Given the description of an element on the screen output the (x, y) to click on. 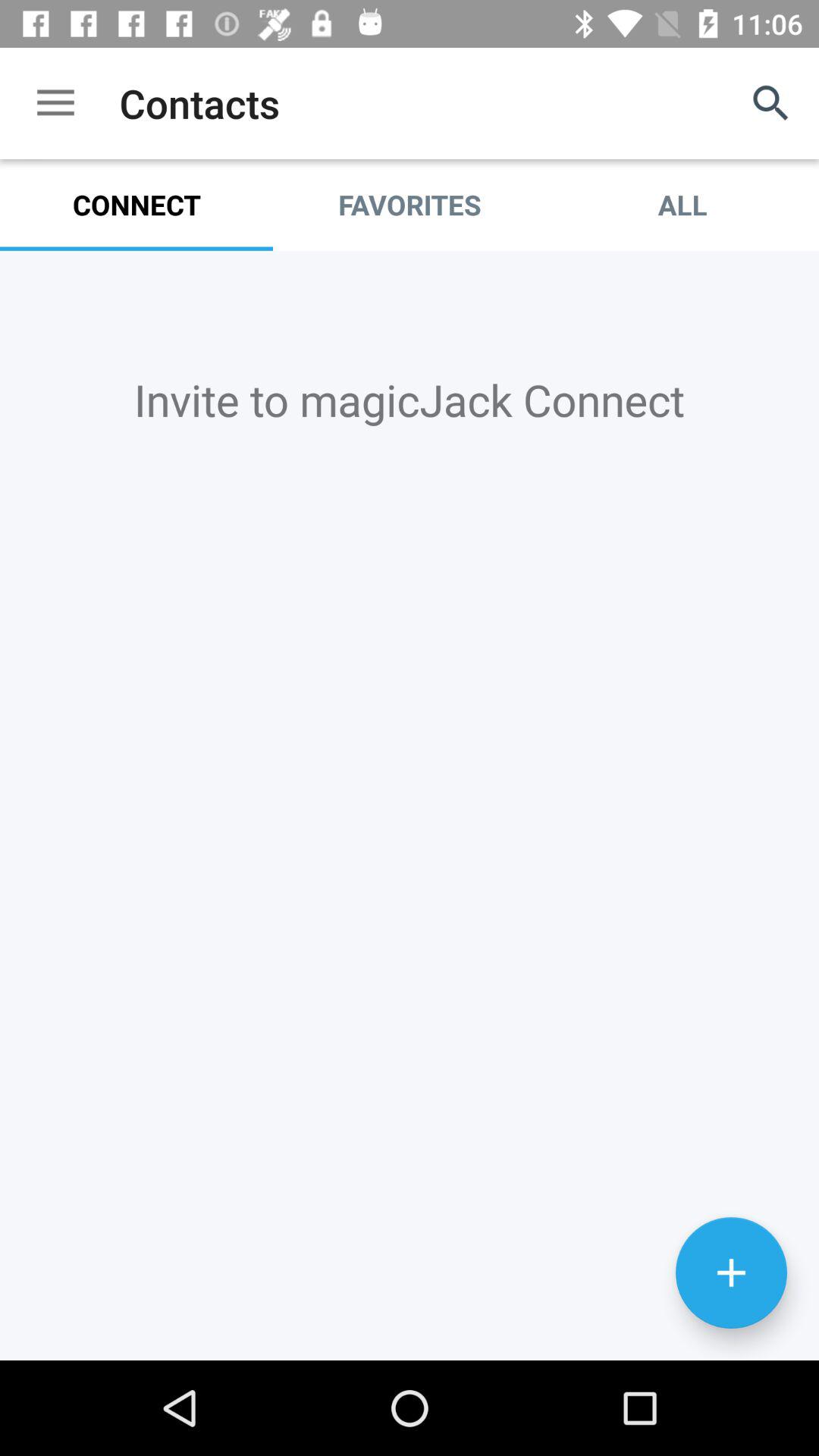
tap item below connect (409, 399)
